Given the description of an element on the screen output the (x, y) to click on. 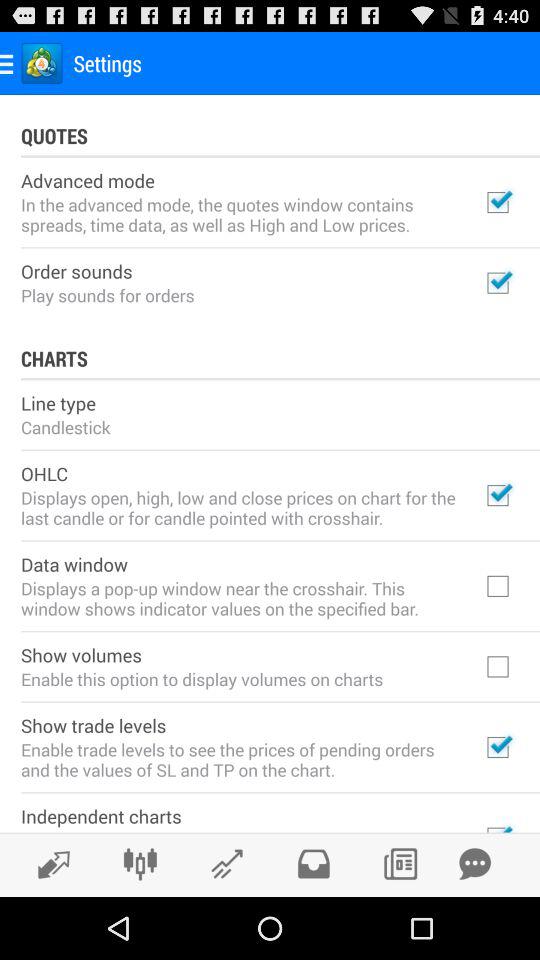
send message (475, 864)
